Given the description of an element on the screen output the (x, y) to click on. 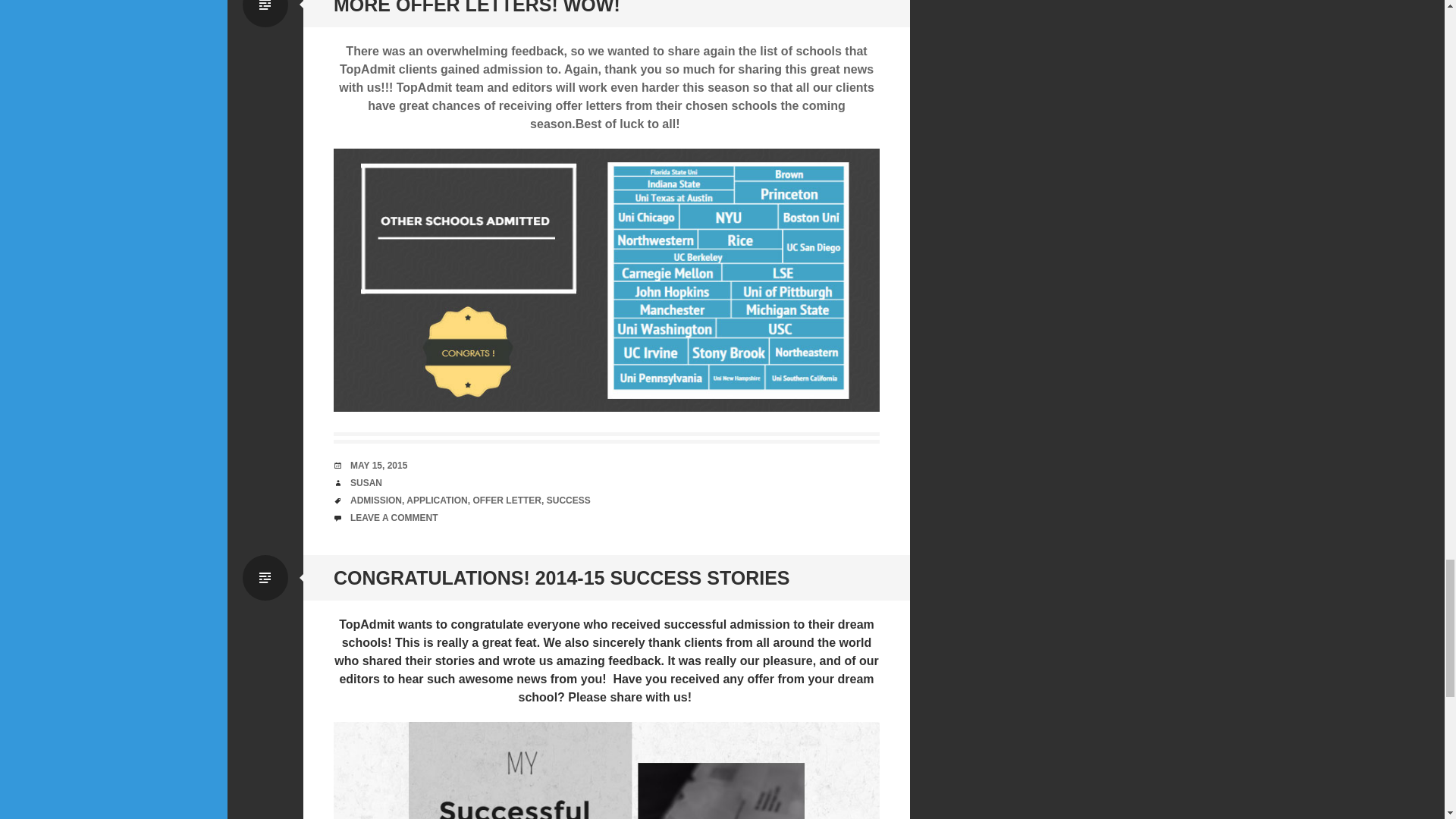
View all posts by Susan (365, 482)
5:47 am (378, 465)
